Given the description of an element on the screen output the (x, y) to click on. 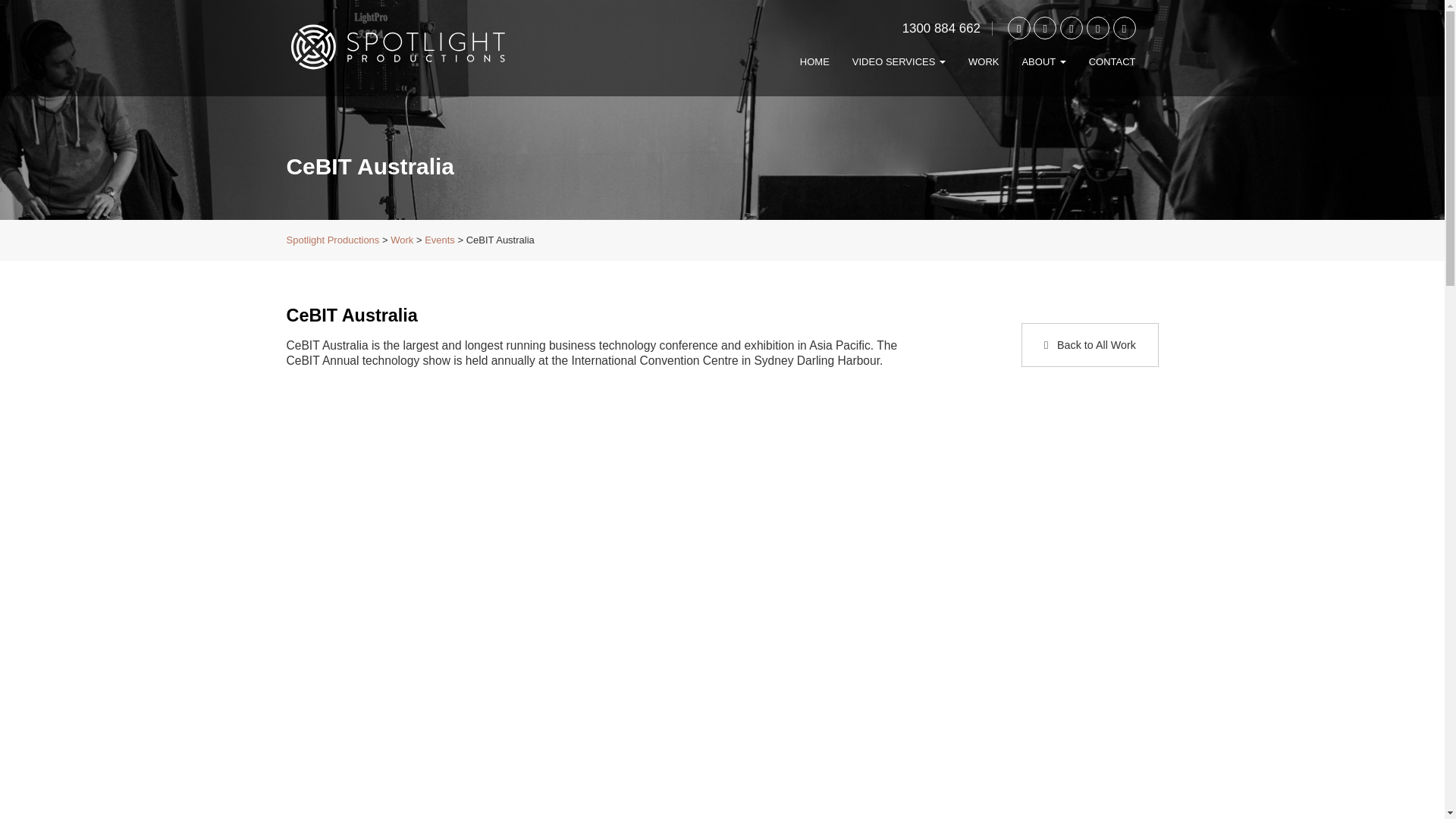
1300 884 662 (940, 28)
Go to Work. (401, 239)
About (1043, 62)
ABOUT (1043, 62)
Home (815, 62)
Events (439, 239)
Contact (1112, 62)
Back to All Work (1089, 344)
Work (401, 239)
Work (983, 62)
